Given the description of an element on the screen output the (x, y) to click on. 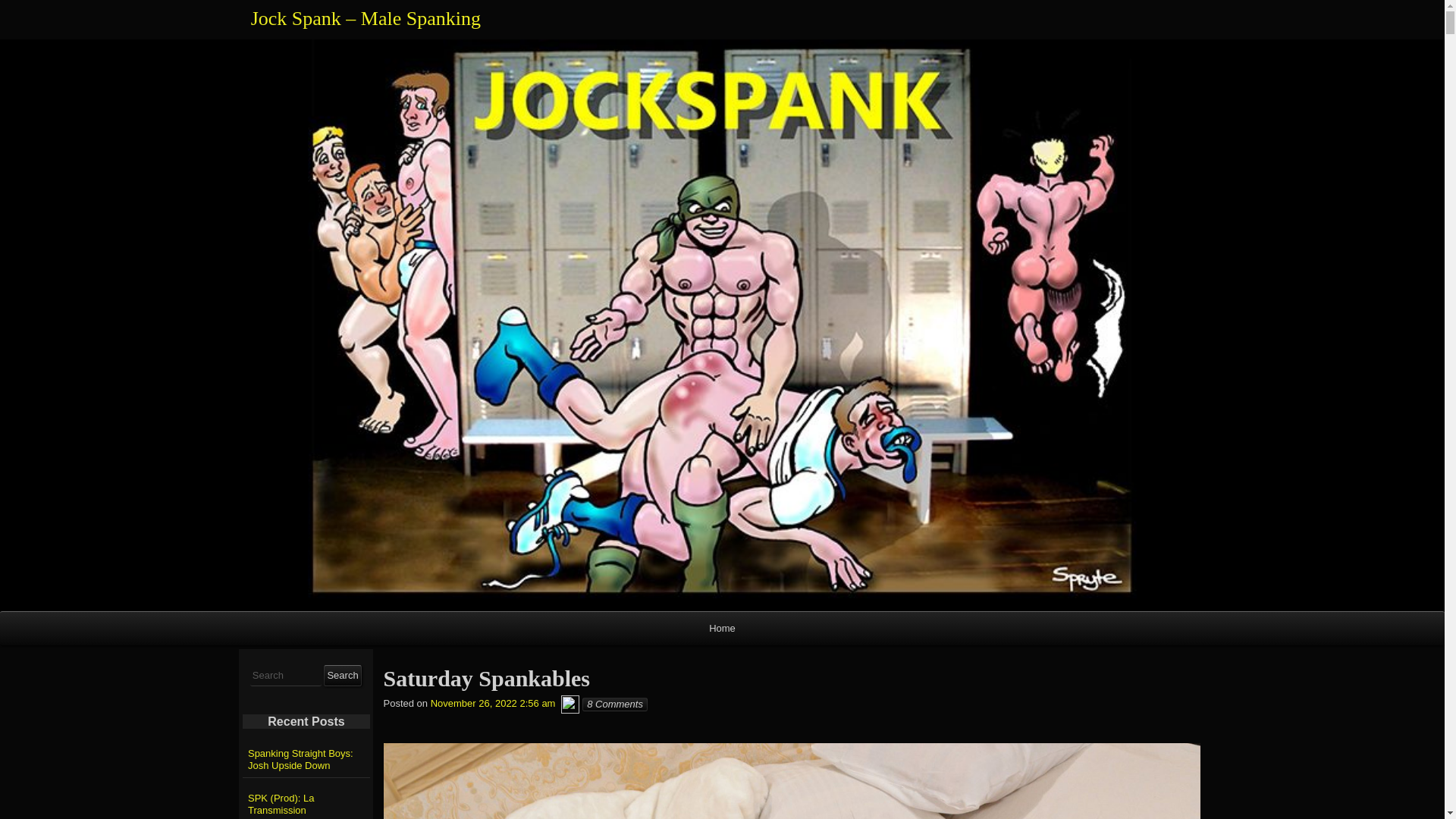
Search (342, 675)
8 Comments (614, 704)
Ward (569, 704)
must not contain html tags (285, 675)
November 26, 2022 2:56 am (493, 704)
Home (721, 628)
